Given the description of an element on the screen output the (x, y) to click on. 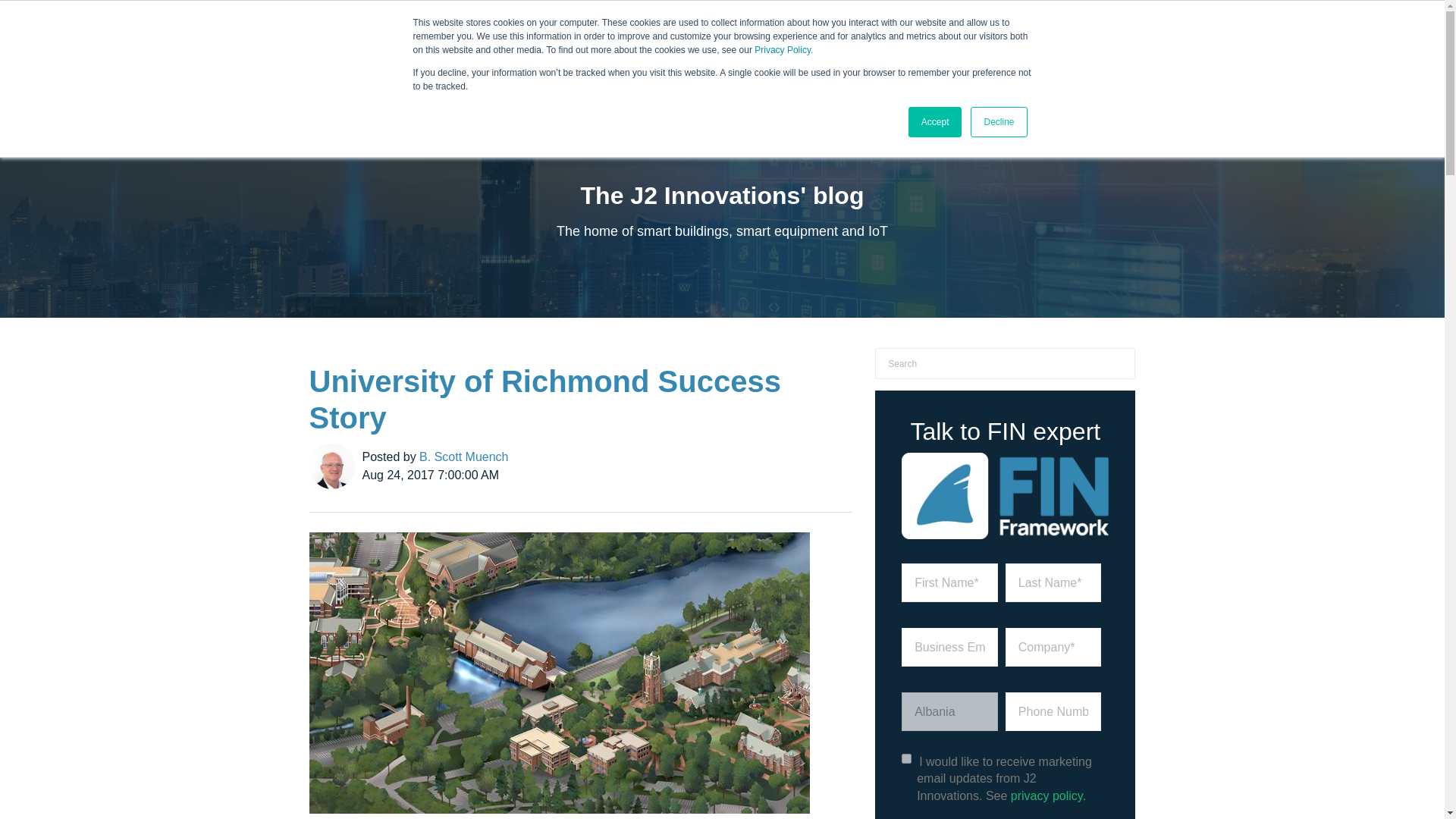
true (906, 758)
Accept (935, 122)
HARDWARE (611, 69)
WHO WE ARE (923, 73)
SOFTWARE (538, 69)
RESOURCES (999, 69)
PARTNERS (852, 69)
Decline (998, 122)
APPLICATIONS (692, 69)
Privacy Policy. (783, 50)
CASE STUDIES (777, 73)
